Given the description of an element on the screen output the (x, y) to click on. 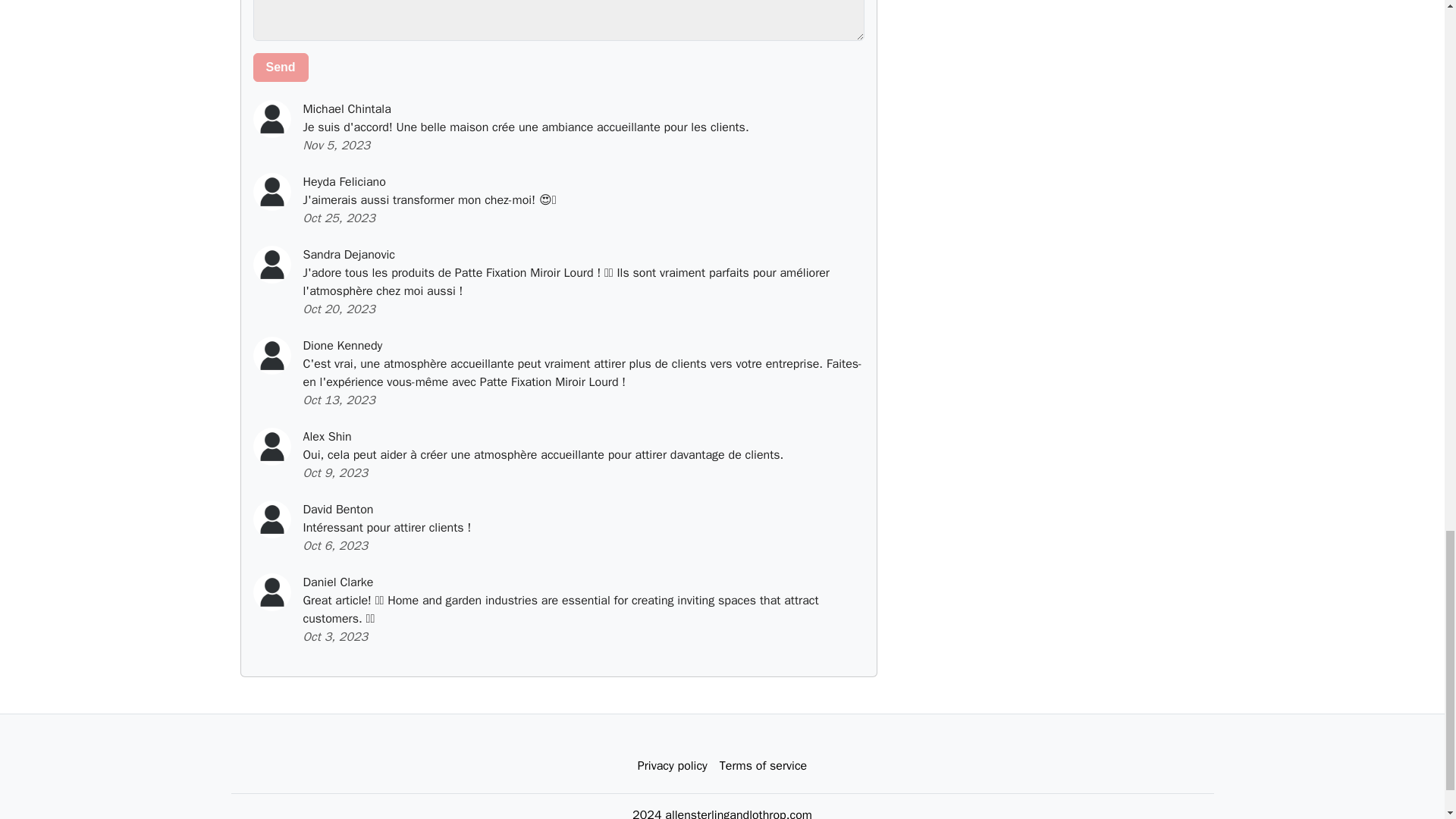
Privacy policy (672, 766)
Send (280, 67)
Terms of service (762, 766)
Send (280, 67)
